Given the description of an element on the screen output the (x, y) to click on. 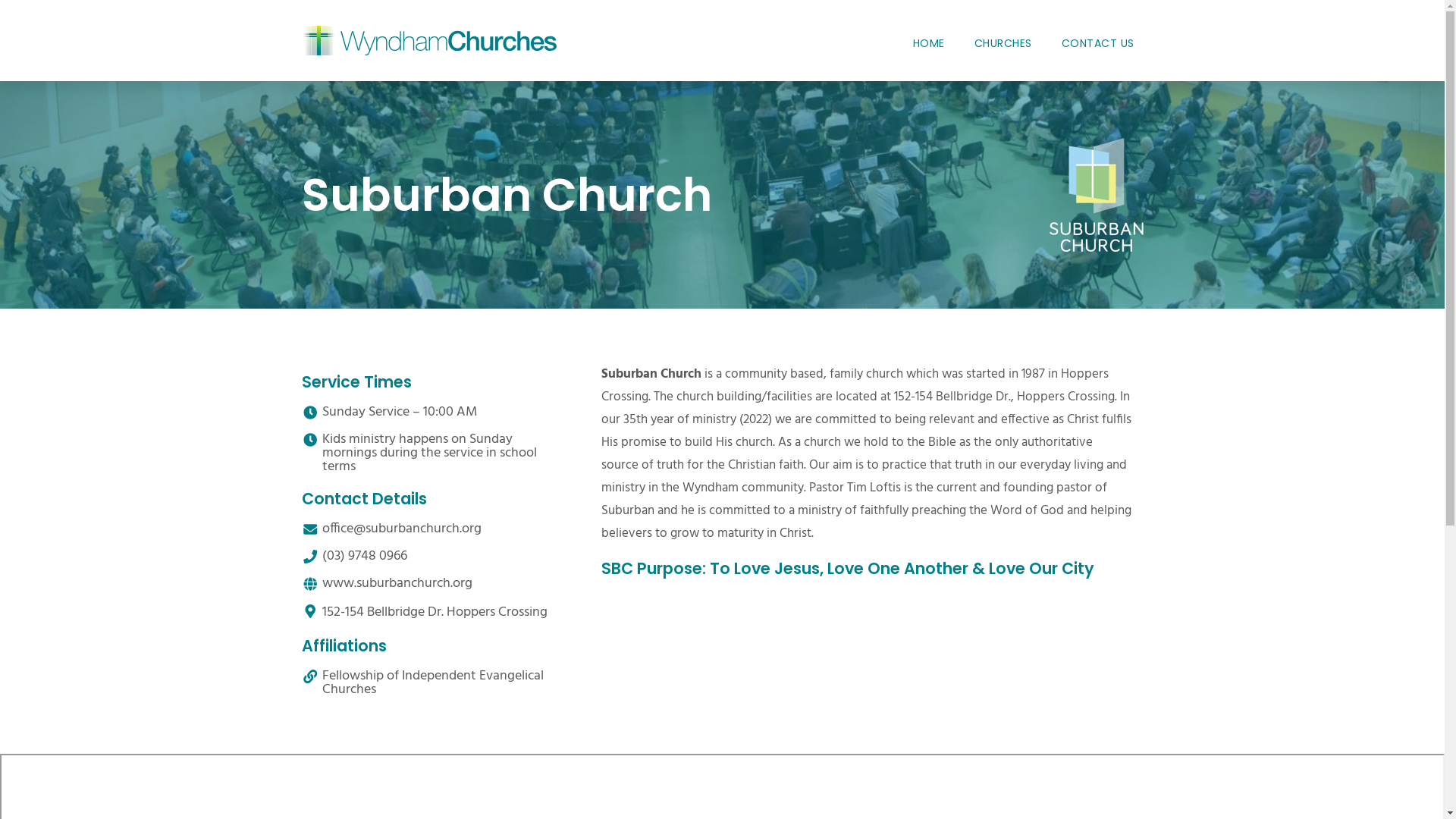
(03) 9748 0966 Element type: text (364, 556)
152-154 Bellbridge Dr. Hoppers Crossing Element type: text (434, 612)
CONTACT US Element type: text (1097, 43)
HOME Element type: text (928, 43)
Fellowship of Independent Evangelical Churches Element type: text (433, 682)
office@suburbanchurch.org Element type: text (401, 528)
www.suburbanchurch.org Element type: text (397, 583)
CHURCHES Element type: text (1002, 43)
